Given the description of an element on the screen output the (x, y) to click on. 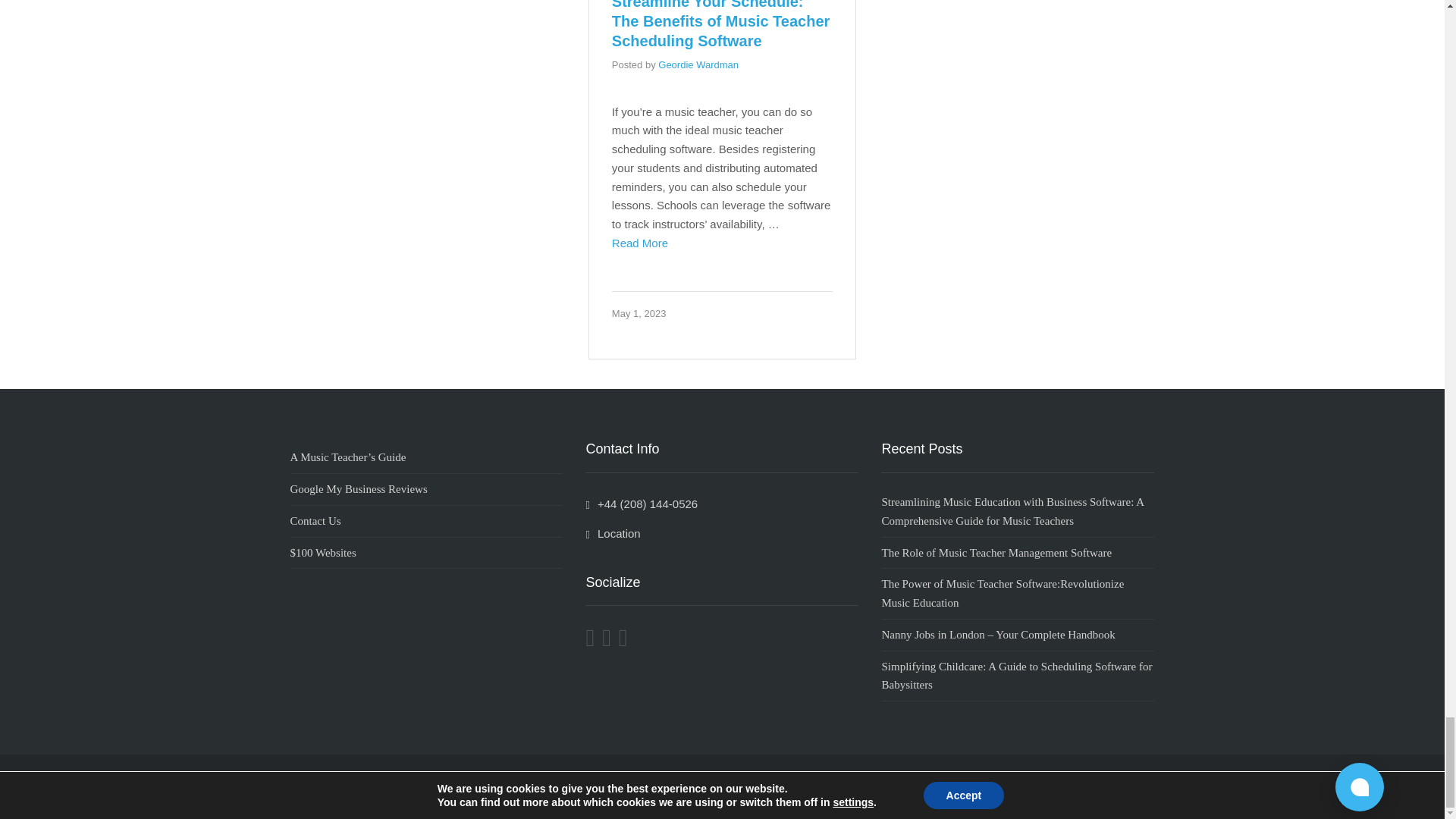
Posts by Geordie Wardman (698, 64)
